Given the description of an element on the screen output the (x, y) to click on. 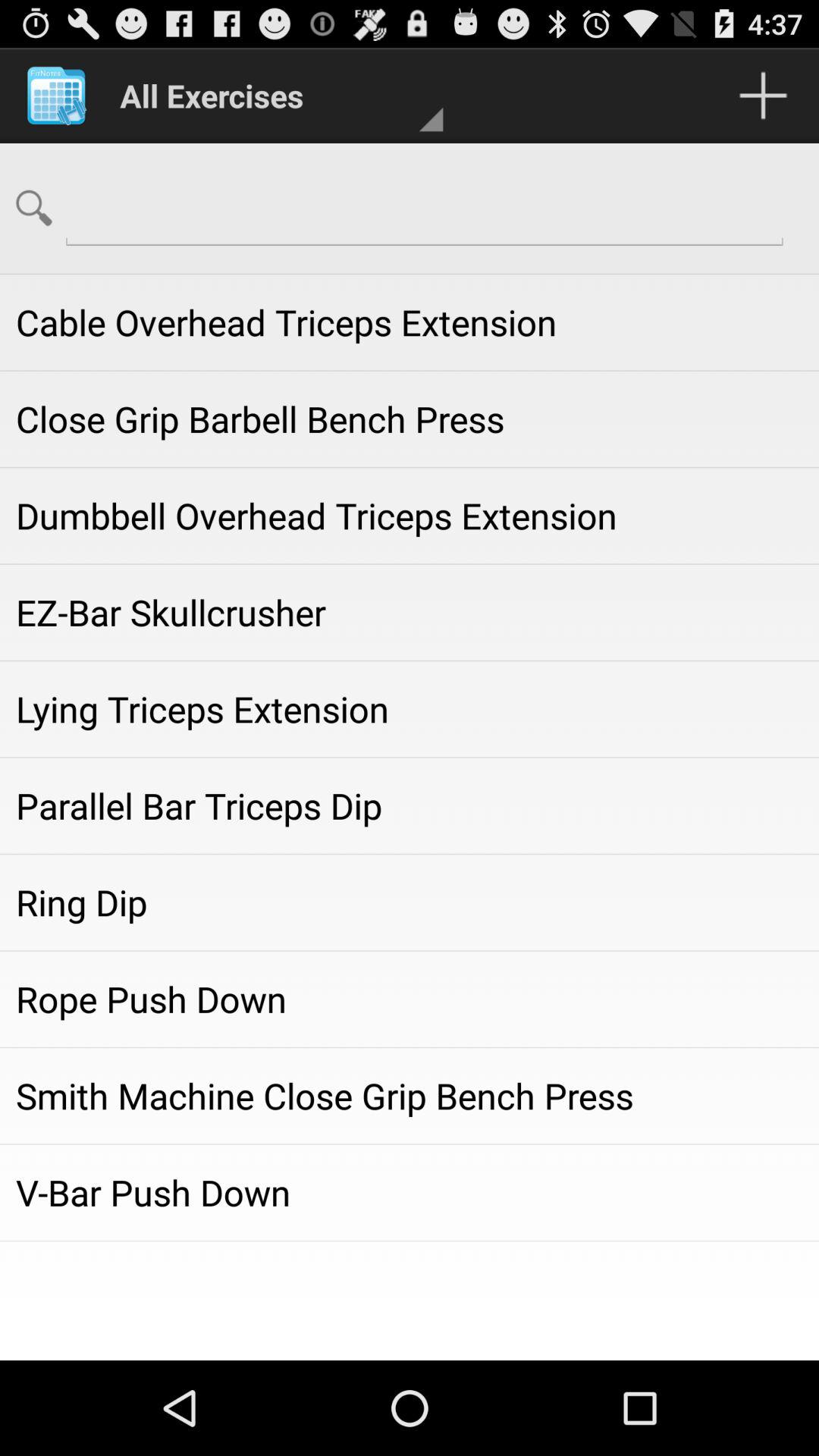
select the field which is towards the right of search icon (424, 207)
